Given the description of an element on the screen output the (x, y) to click on. 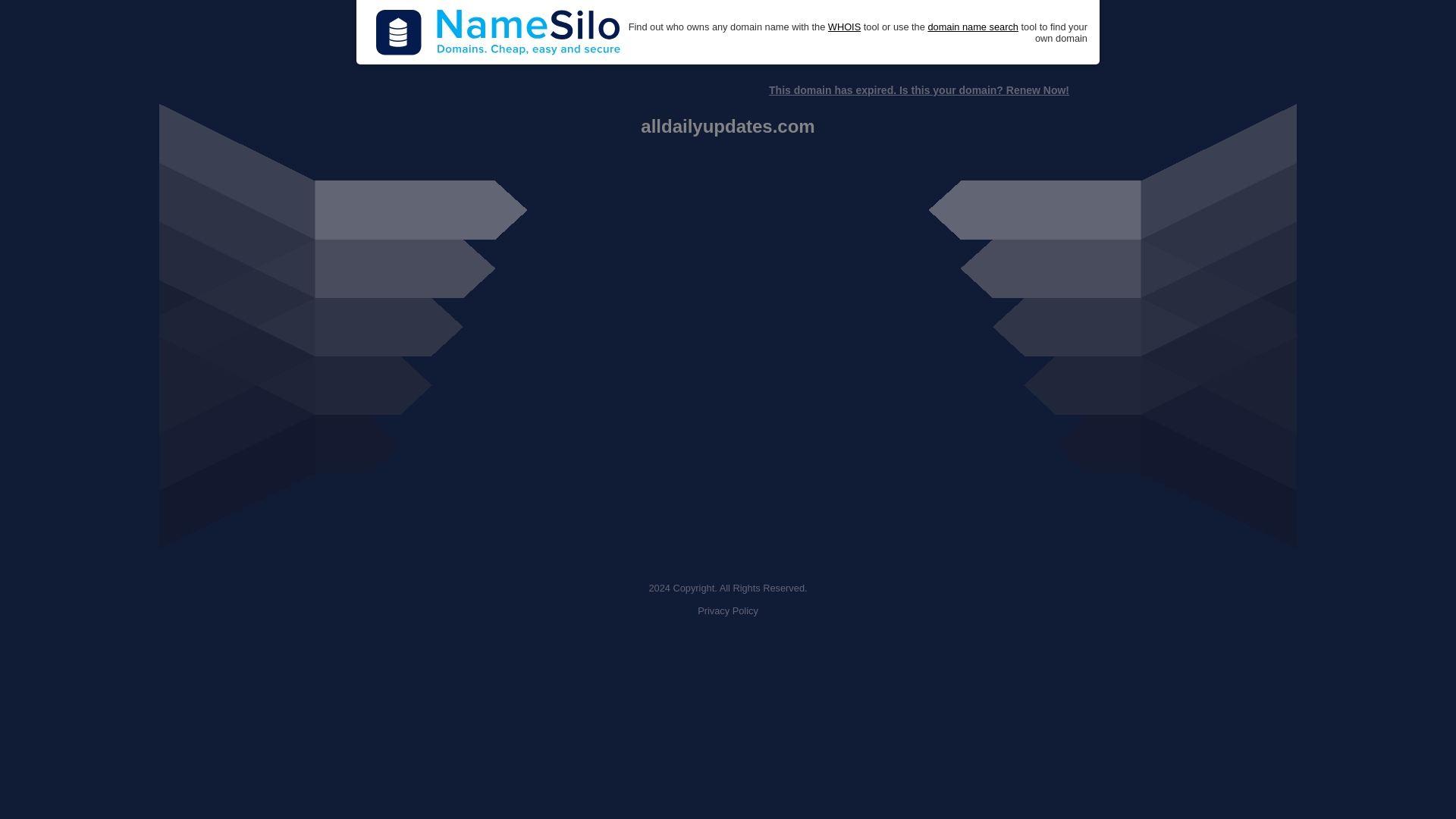
domain name search (972, 26)
This domain has expired. Is this your domain? Renew Now! (918, 90)
Privacy Policy (727, 610)
WHOIS (844, 26)
